Given the description of an element on the screen output the (x, y) to click on. 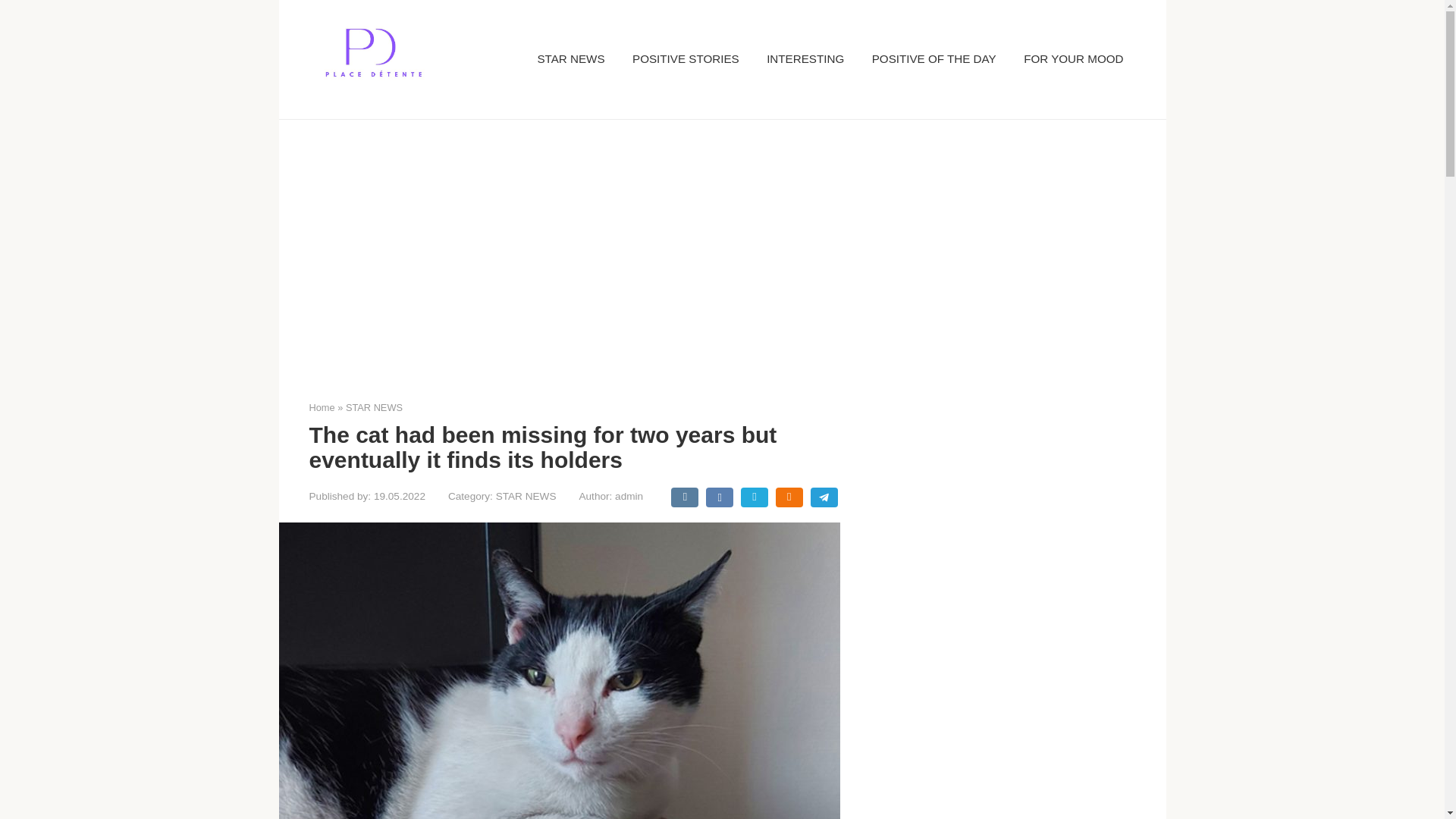
STAR NEWS (526, 496)
INTERESTING (805, 59)
STAR NEWS (570, 59)
STAR NEWS (374, 407)
Home (321, 407)
FOR YOUR MOOD (1072, 59)
POSITIVE OF THE DAY (933, 59)
POSITIVE STORIES (685, 59)
